Given the description of an element on the screen output the (x, y) to click on. 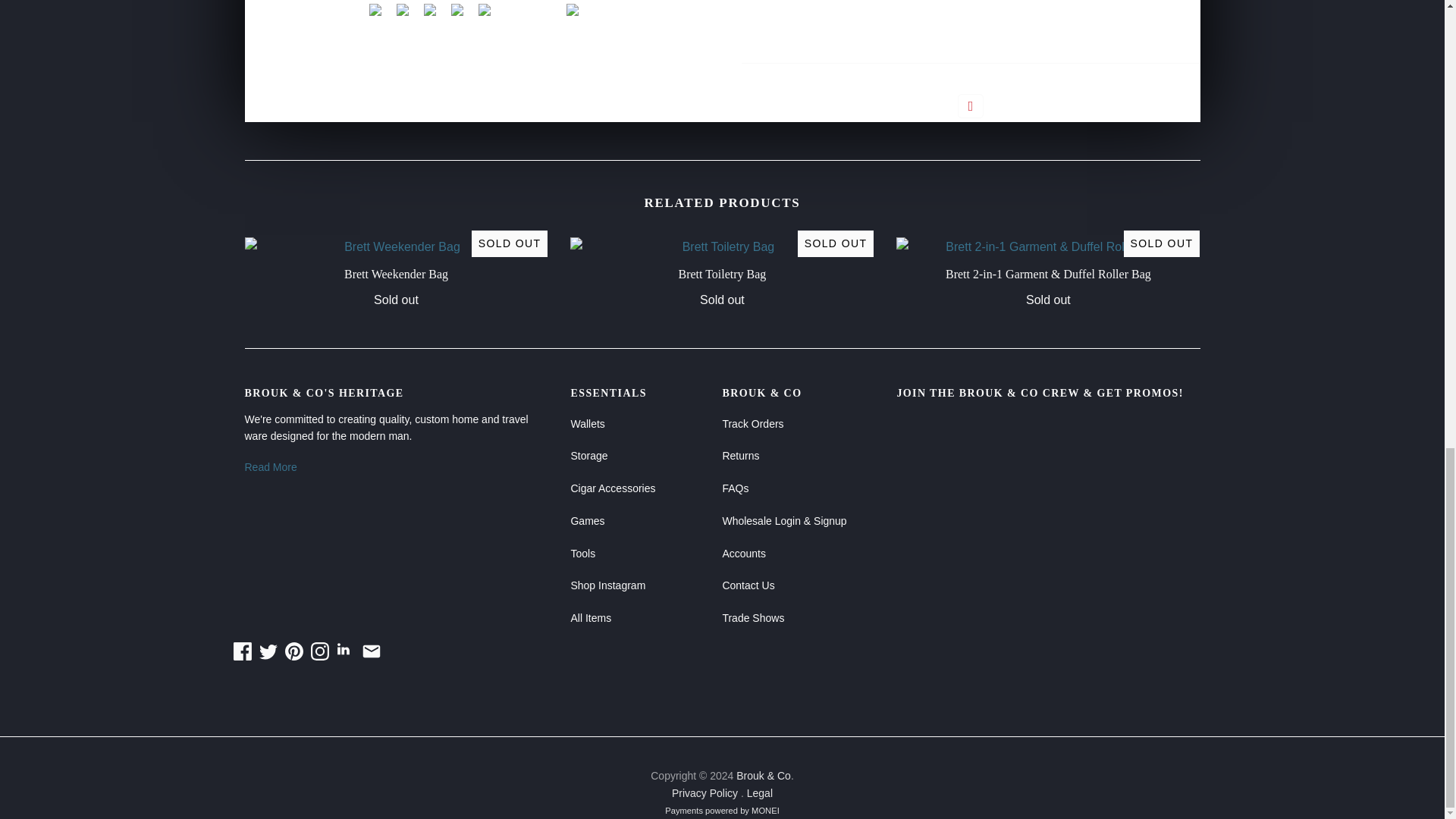
Games (587, 521)
Read More (395, 466)
Pinterest (293, 651)
Brett Weekender Bag (395, 273)
Shop Instagram (607, 585)
Tools (582, 552)
Instagram (320, 651)
Twitter (268, 651)
Wallets (587, 423)
Storage (588, 455)
RSS (345, 651)
Cigar Accessories (612, 488)
Pin it (971, 105)
Mail (371, 651)
Brett Toiletry Bag (721, 273)
